Given the description of an element on the screen output the (x, y) to click on. 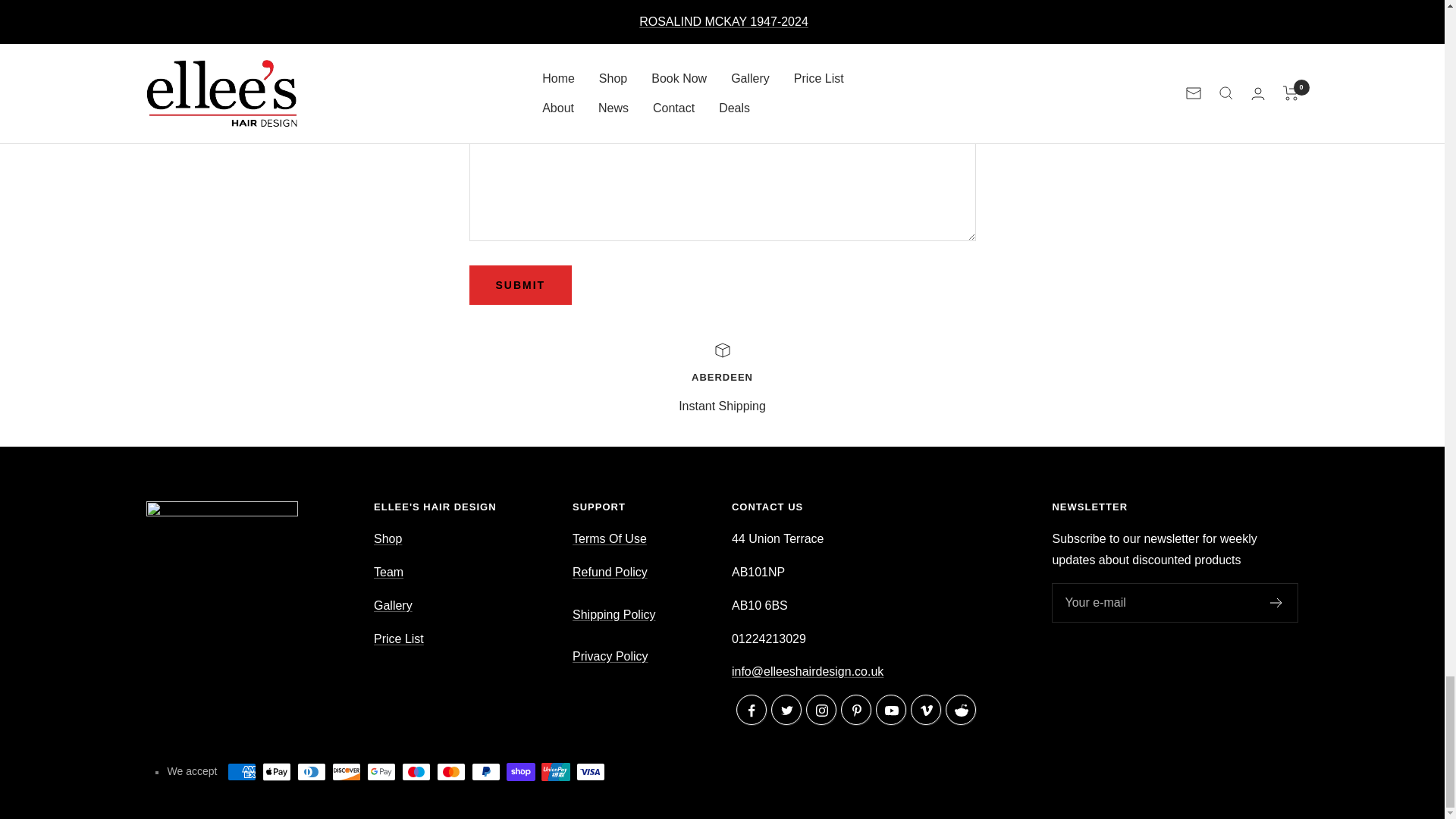
Terms of Service (609, 538)
Shipping Policy (613, 614)
Price List (398, 638)
About us (721, 378)
Privacy Policy (388, 571)
Refund Policy (609, 656)
Register (609, 582)
Gallery (1275, 602)
Shop (393, 604)
